Given the description of an element on the screen output the (x, y) to click on. 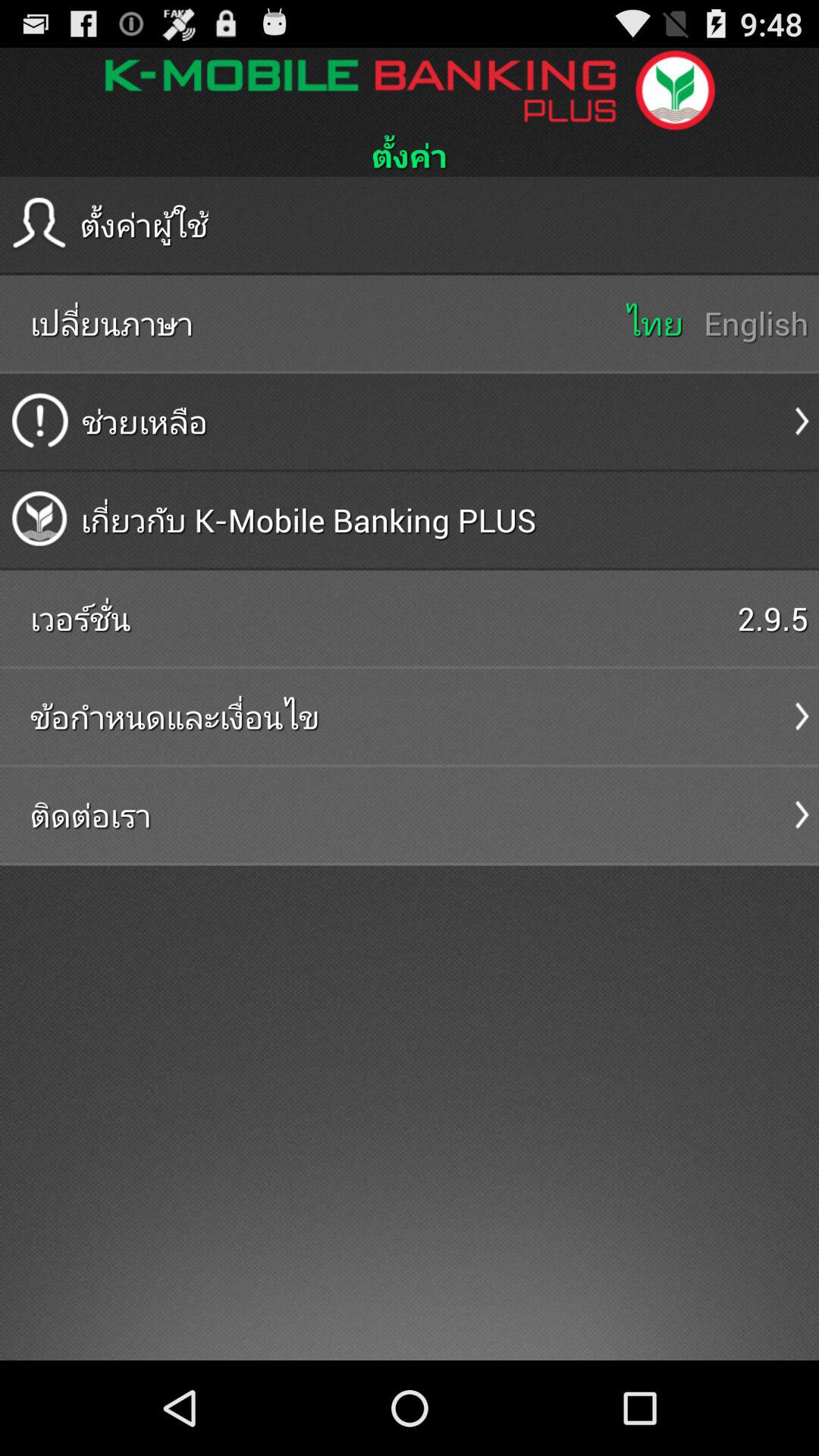
click on the icon which is to the left side of kmobile banking plus option (39, 519)
